Given the description of an element on the screen output the (x, y) to click on. 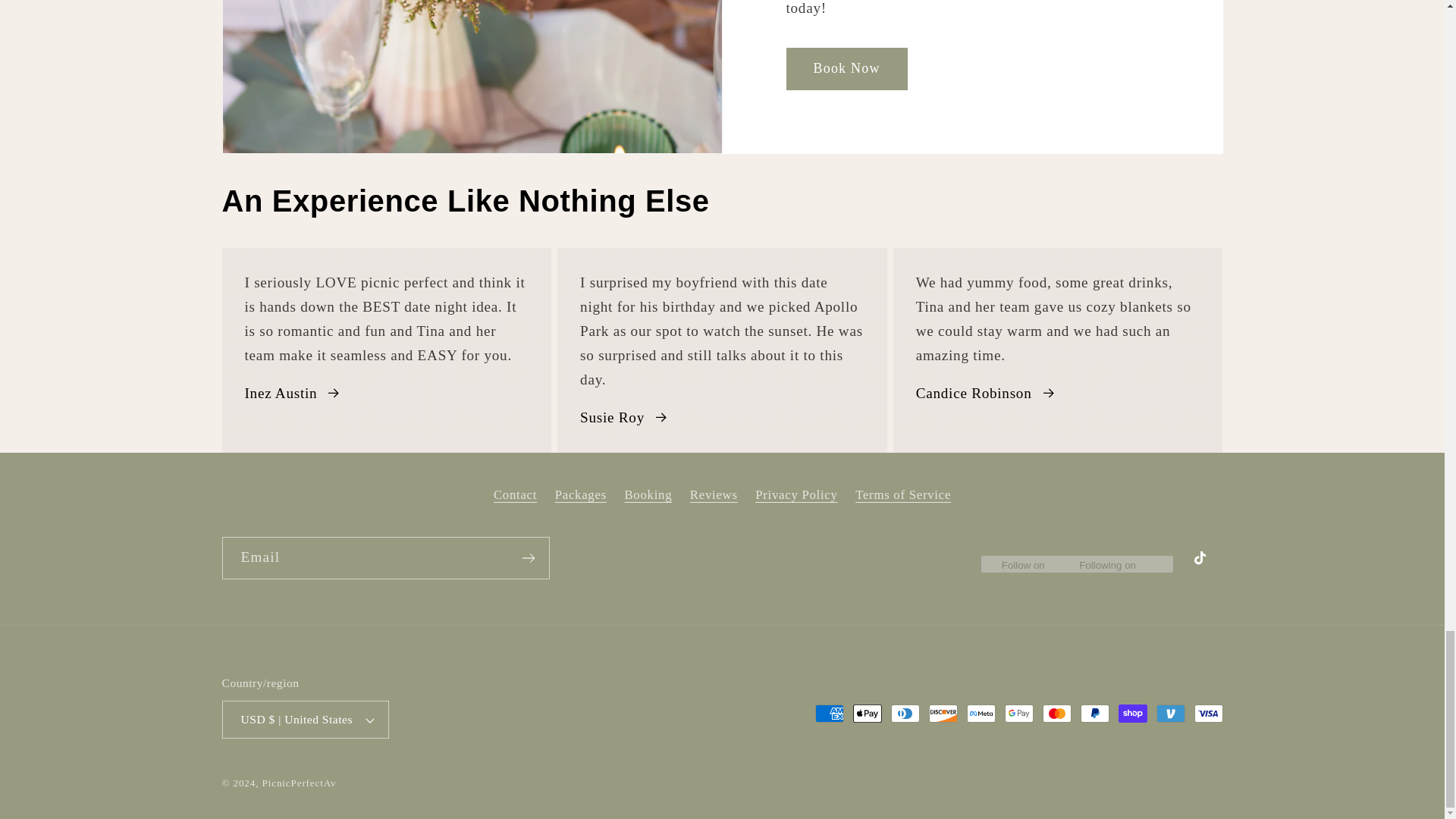
Candice Robinson  (986, 393)
Privacy Policy (796, 494)
Contact (515, 497)
Reviews (714, 494)
Inez Austin  (293, 393)
Susie Roy  (624, 417)
TikTok (1202, 559)
Booking (647, 494)
Book Now (846, 68)
Terms of Service (903, 494)
Packages (580, 494)
